Given the description of an element on the screen output the (x, y) to click on. 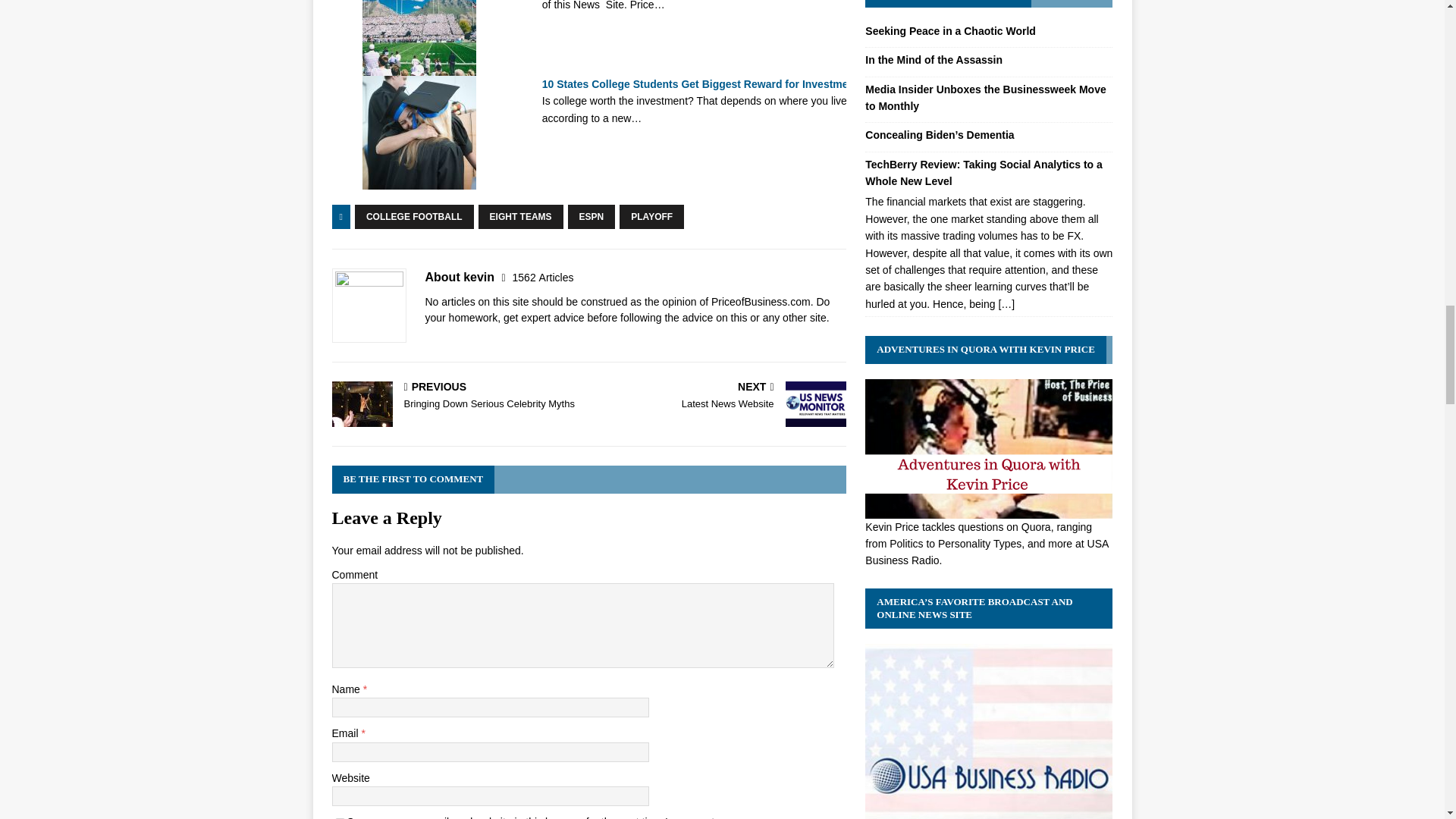
More articles written by kevin' (542, 277)
Adventures in Quora with Kevin Price (988, 509)
